Given the description of an element on the screen output the (x, y) to click on. 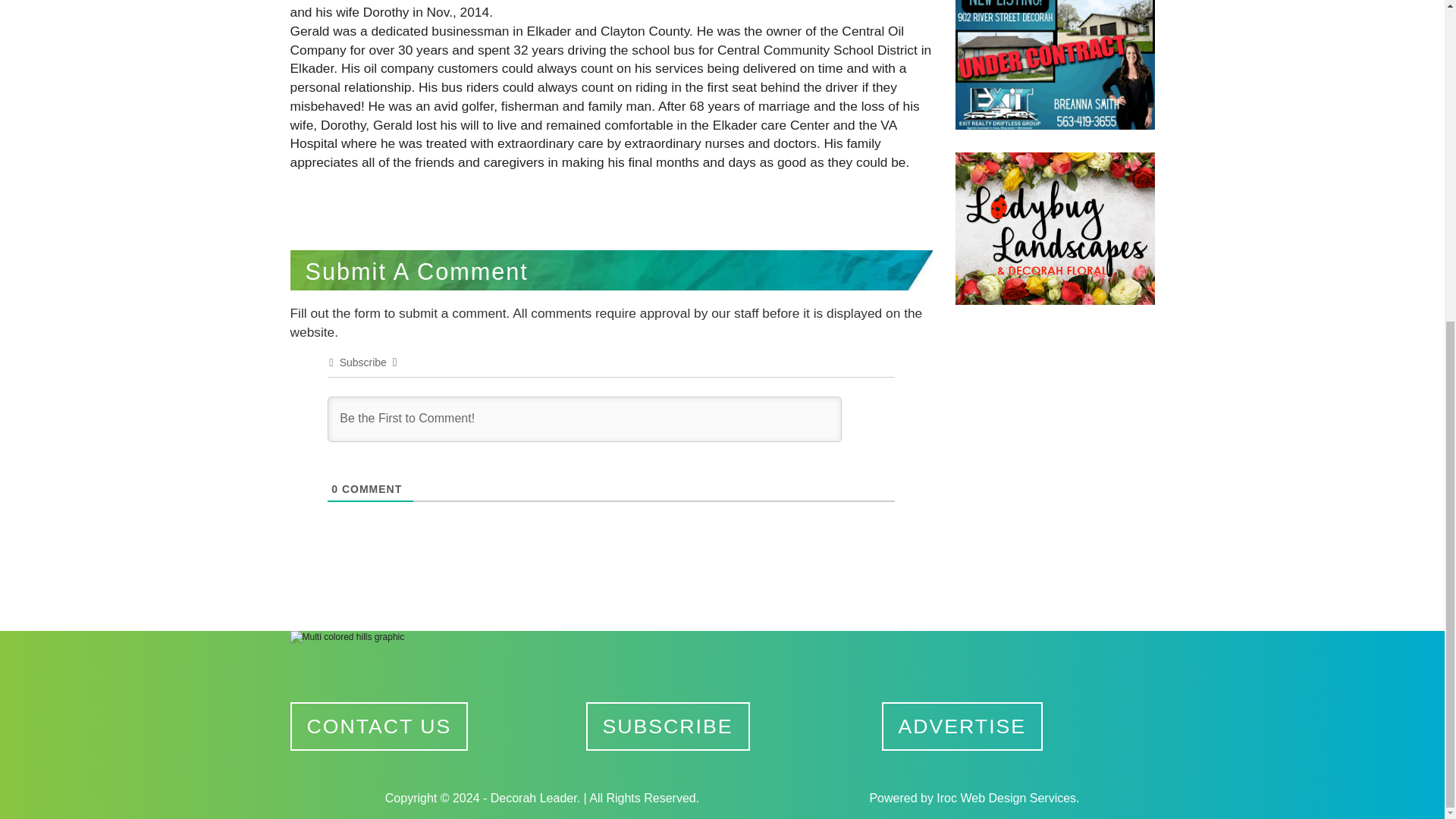
Iroc Web Design Services (1005, 797)
SUBSCRIBE (667, 726)
CONTACT US (378, 726)
Iroc Web Design Services (1005, 797)
Hills (721, 663)
ADVERTISE (961, 726)
